Given the description of an element on the screen output the (x, y) to click on. 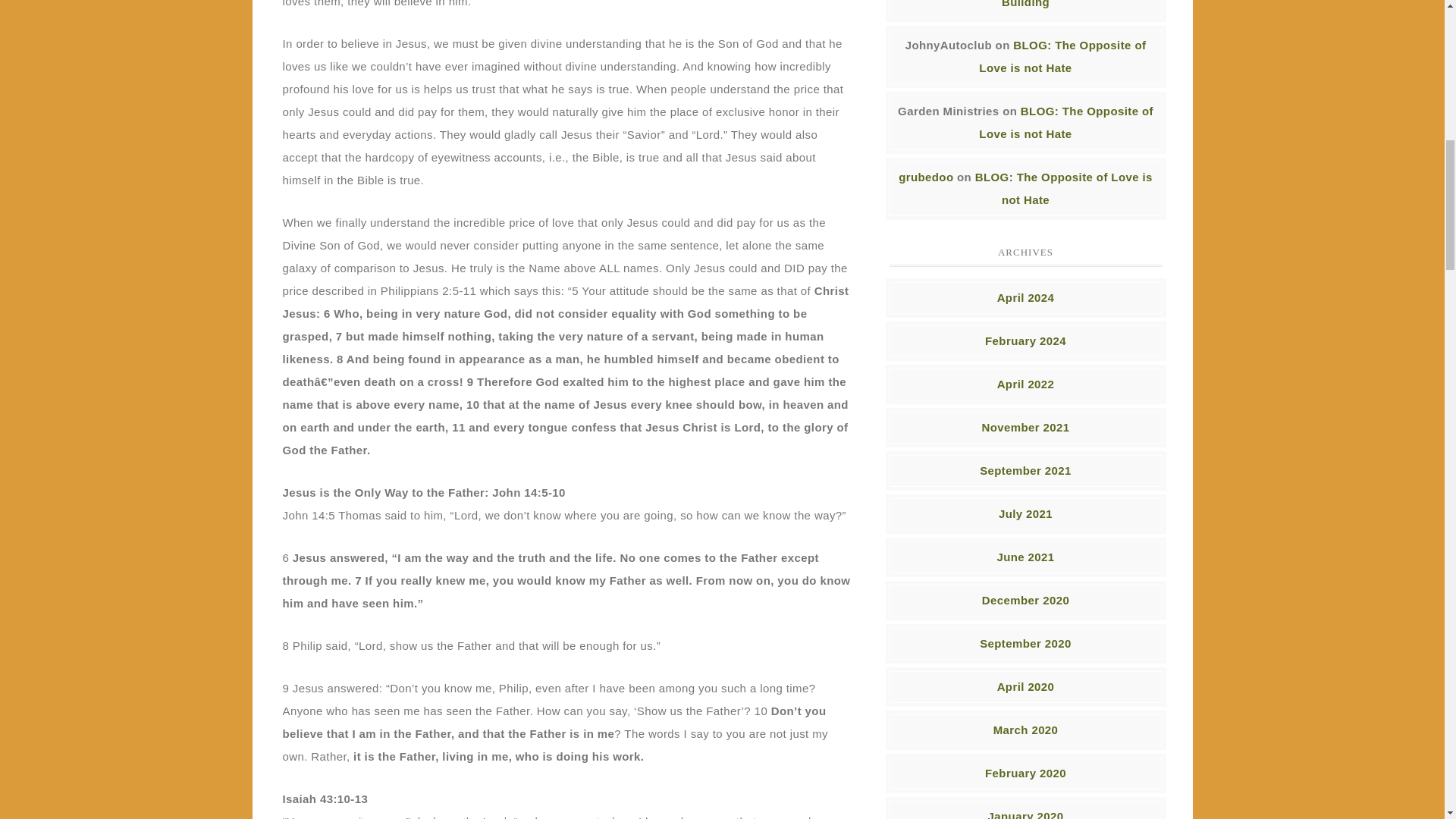
April 2024 (1025, 297)
September 2021 (1025, 470)
BLOG: The Opposite of Love is not Hate (1061, 56)
April 2022 (1025, 383)
BLOG: The Opposite of Love is not Hate (1064, 188)
BLOG: Relationship Building (1069, 4)
BLOG: The Opposite of Love is not Hate (1065, 122)
November 2021 (1024, 426)
February 2024 (1025, 339)
grubedoo (925, 176)
